Given the description of an element on the screen output the (x, y) to click on. 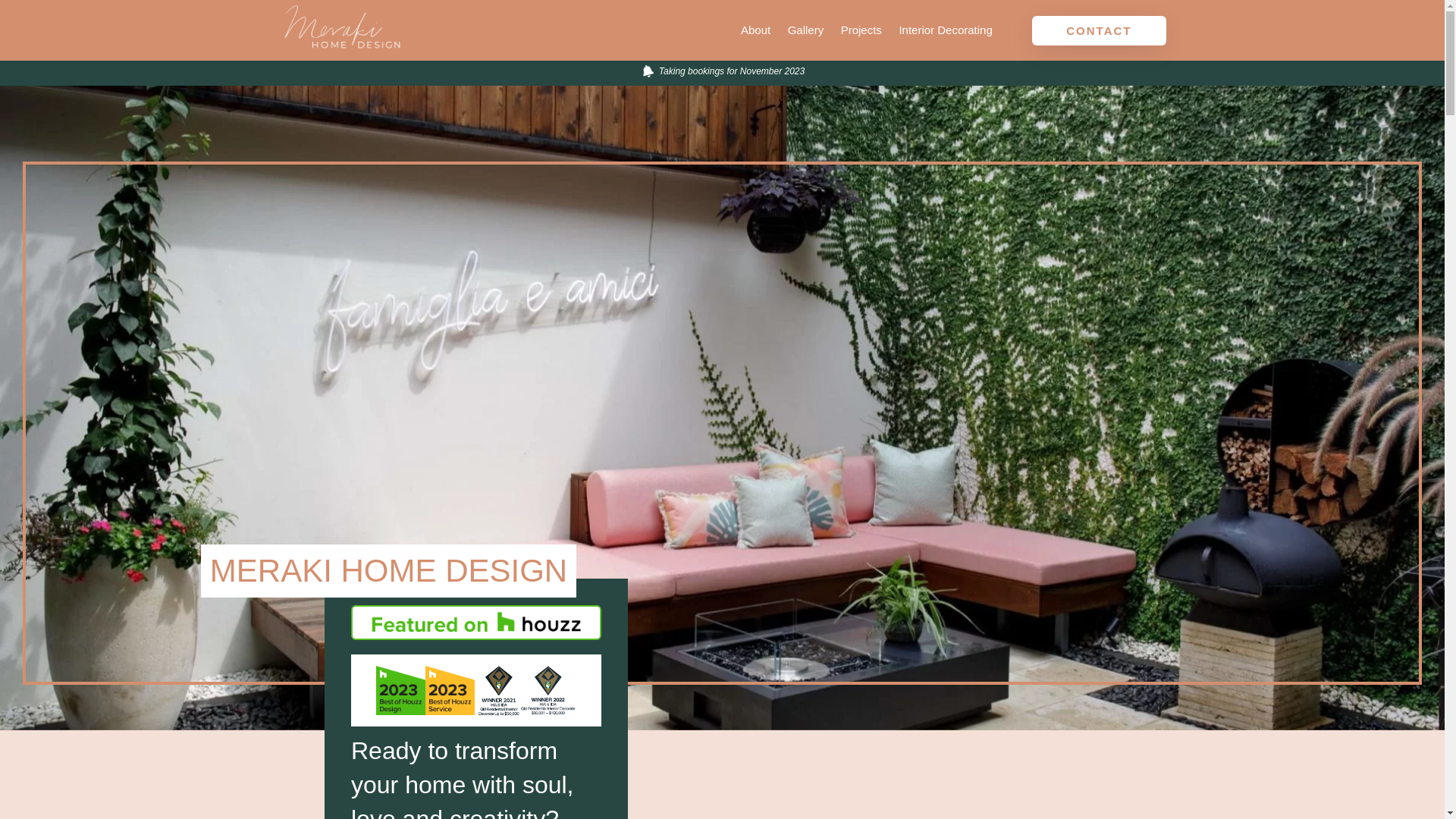
Home 2 Element type: hover (475, 622)
Home 1 Element type: hover (646, 71)
Home 5 Element type: hover (498, 690)
Gallery Element type: text (805, 30)
Projects Element type: text (860, 30)
Home 4 Element type: hover (449, 690)
Interior Decorating Element type: text (944, 30)
CONTACT Element type: text (1098, 29)
Home 3 Element type: hover (400, 690)
Home 6 Element type: hover (547, 690)
About Element type: text (755, 30)
Taking bookings for November 2023 Element type: text (721, 72)
